Given the description of an element on the screen output the (x, y) to click on. 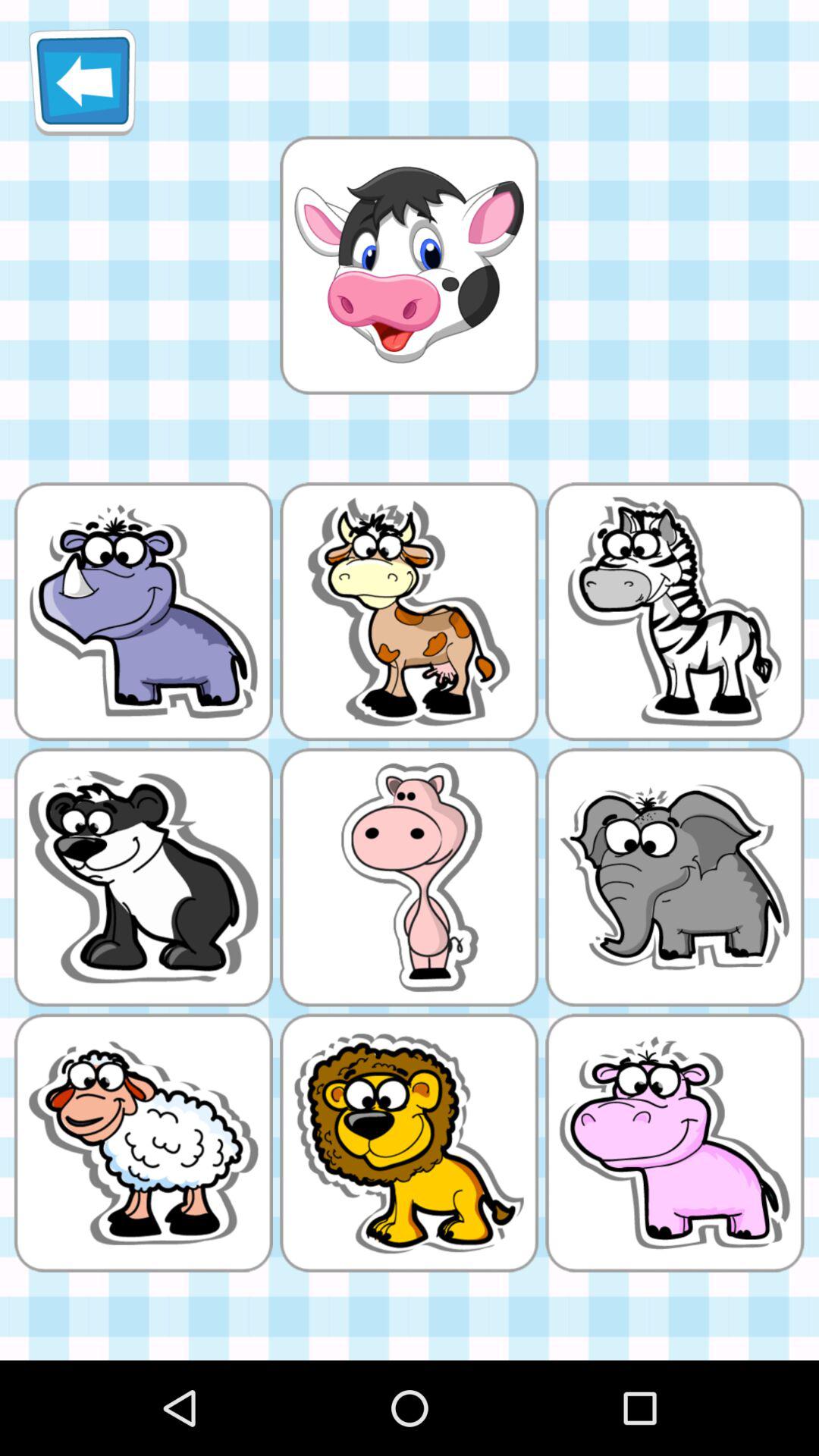
select pic (409, 265)
